Given the description of an element on the screen output the (x, y) to click on. 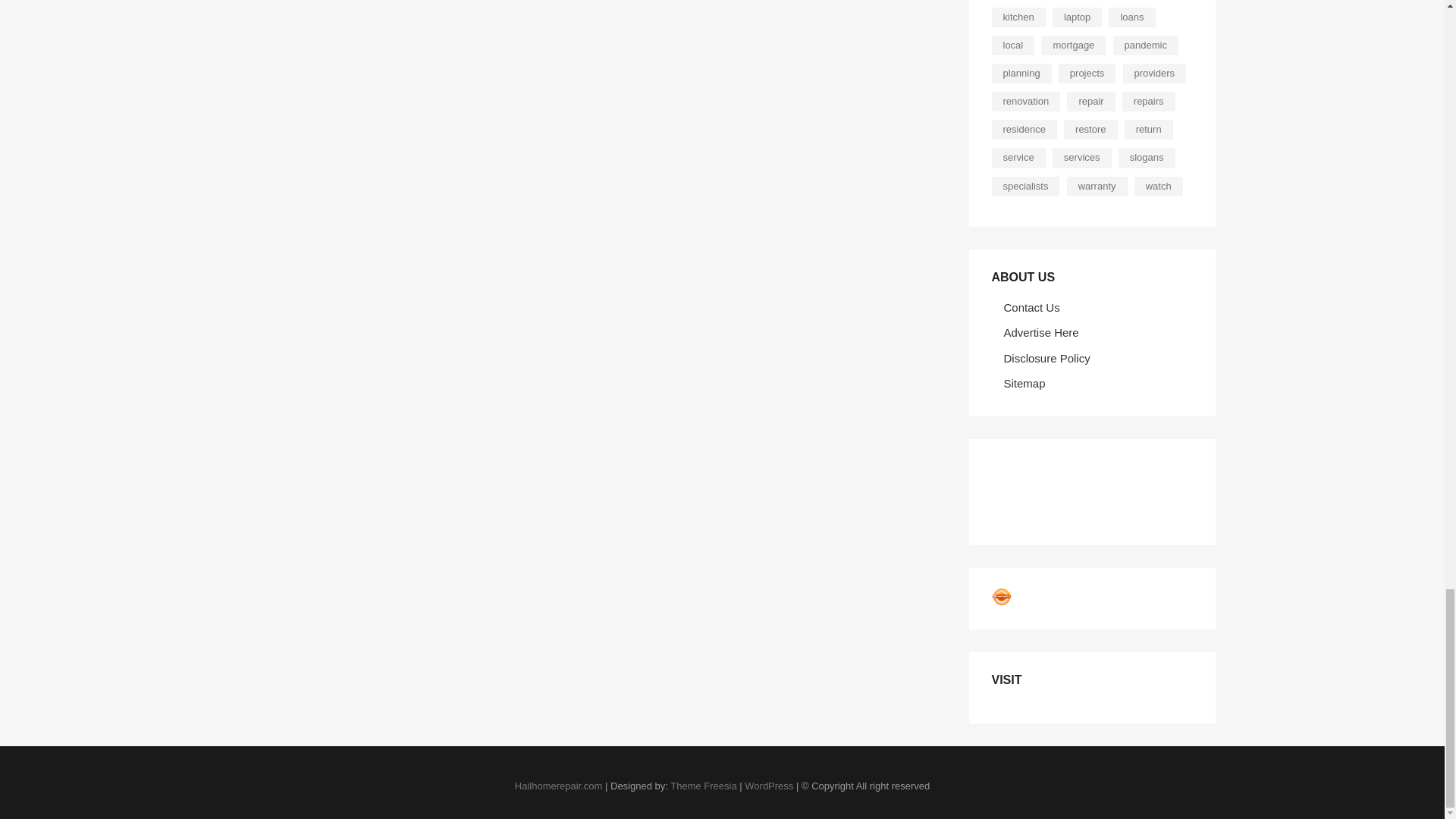
Theme Freesia (702, 785)
WordPress (768, 785)
Seedbacklink (1001, 596)
Hailhomerepair.com (558, 785)
